Given the description of an element on the screen output the (x, y) to click on. 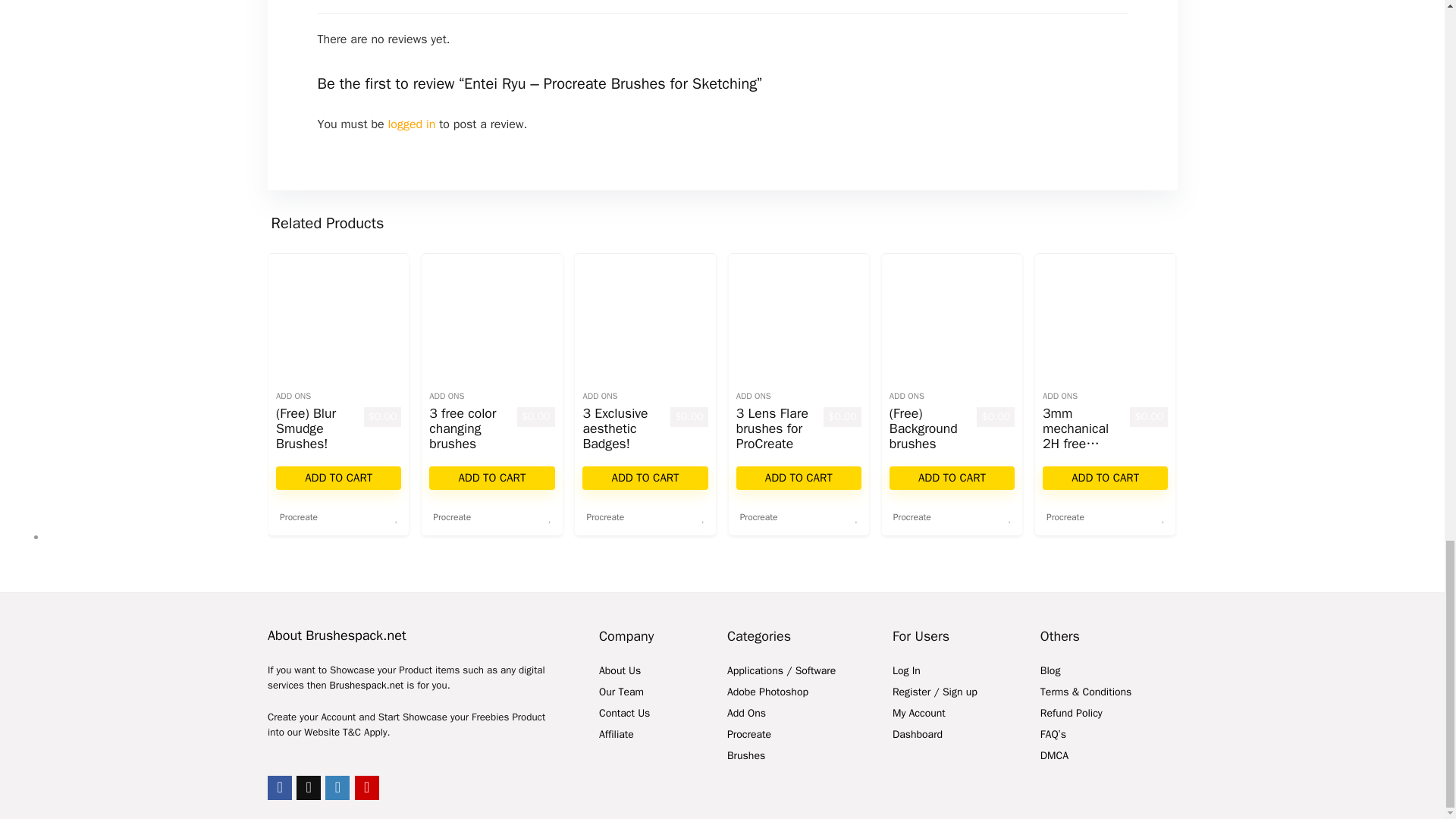
Youtube (366, 787)
twitter (308, 787)
Instagramm (336, 787)
Facebook (279, 787)
